Given the description of an element on the screen output the (x, y) to click on. 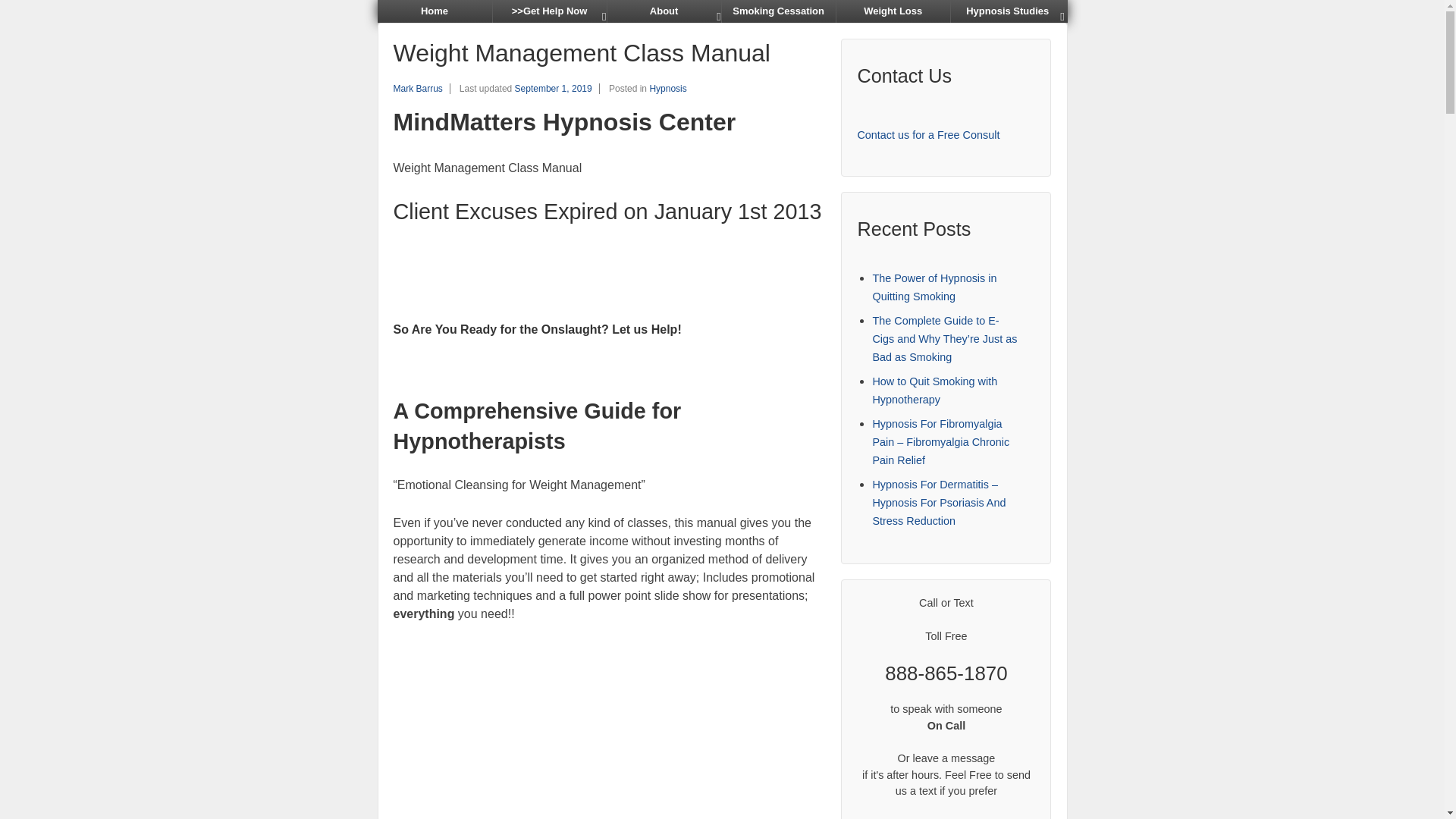
Healthy Life Centers LLC (434, 11)
Smoking Cessation (777, 11)
About (663, 11)
Home (434, 11)
wanda (449, 698)
Mark Barrus (417, 88)
View all posts by Mark Barrus (417, 88)
September 1, 2019 (557, 88)
Hypnosis Studies (1007, 11)
Get Referred Today (549, 11)
Can Hypnosis Really Help With Weight Loss? (892, 11)
Weight Management Class Manual (557, 88)
Weight Loss (892, 11)
Hypnosis (667, 88)
